Given the description of an element on the screen output the (x, y) to click on. 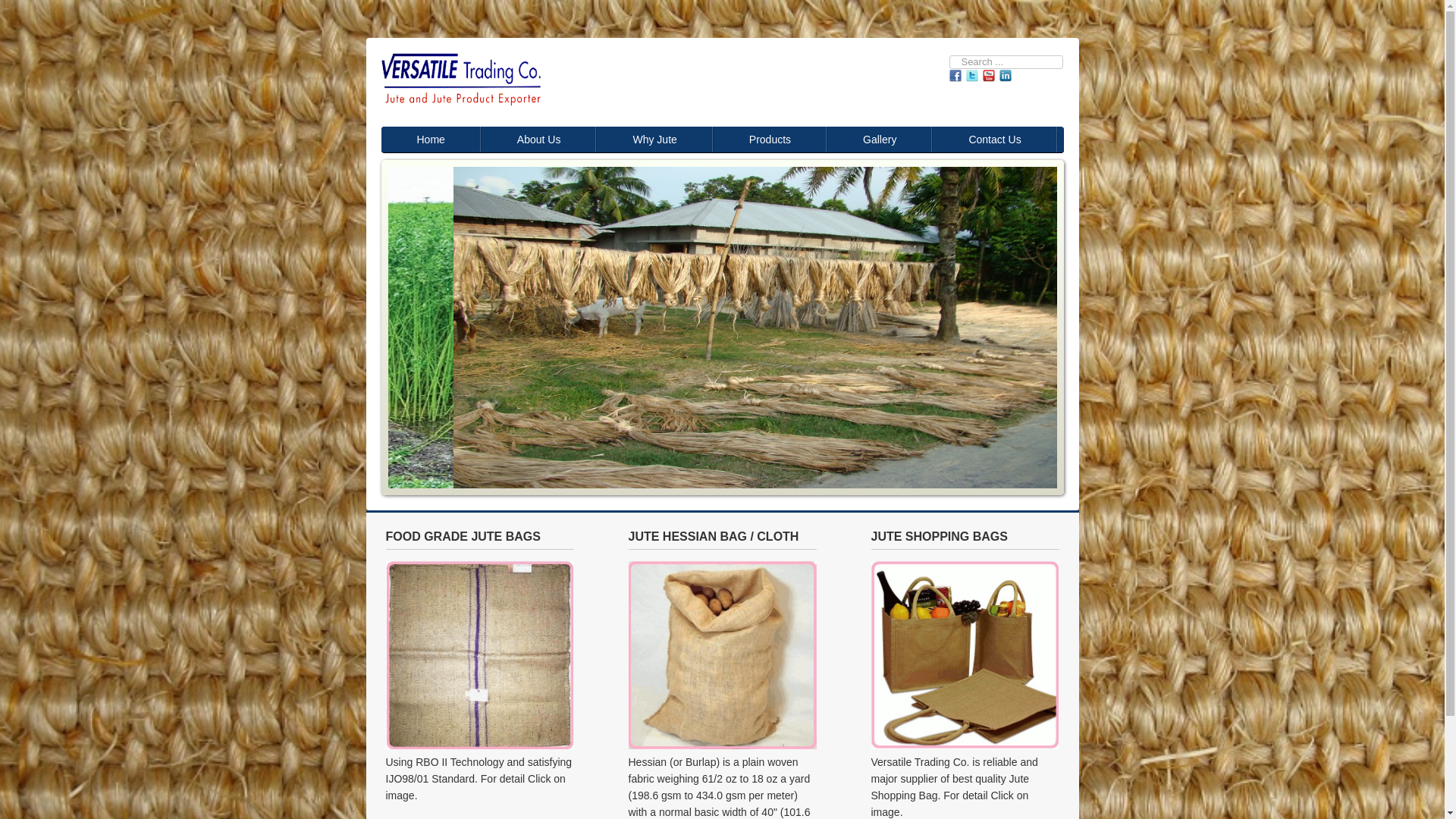
Gallery Element type: text (879, 139)
Twitter Element type: hover (972, 75)
Linkedin Element type: hover (1005, 75)
YouTube Element type: hover (988, 75)
Jute Shopping Bags Element type: hover (964, 745)
Home Element type: text (430, 139)
JUTE HESSIAN BAG / CLOTH Element type: hover (721, 745)
Facebook Element type: hover (955, 75)
About Us Element type: text (539, 139)
Why Jute Element type: text (654, 139)
FOOD GRADE JUTE BAG/CLOTH Element type: hover (479, 745)
Contact Us Element type: text (994, 139)
Products Element type: text (770, 139)
